Given the description of an element on the screen output the (x, y) to click on. 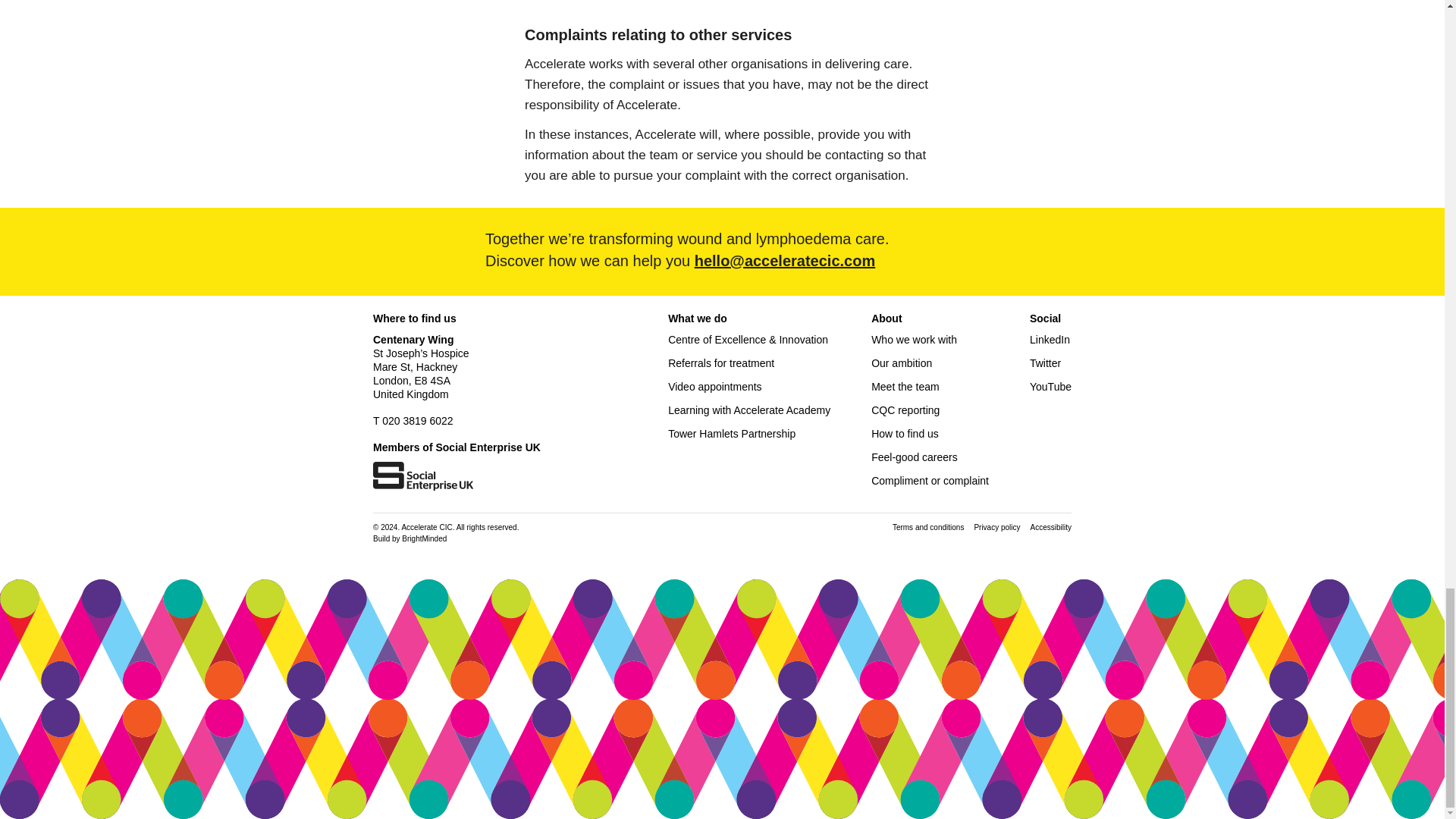
LinkedIn (1049, 339)
Privacy policy (997, 527)
Referrals for treatment (721, 363)
Tower Hamlets Partnership (731, 433)
Terms and conditions (927, 527)
Our ambition (900, 363)
YouTube (1050, 386)
How to find us (904, 433)
Meet the team (904, 386)
Learning with Accelerate Academy (748, 410)
Compliment or complaint (929, 480)
Feel-good careers (914, 457)
BrightMinded (423, 538)
Accessibility (1050, 527)
Who we work with (913, 339)
